Given the description of an element on the screen output the (x, y) to click on. 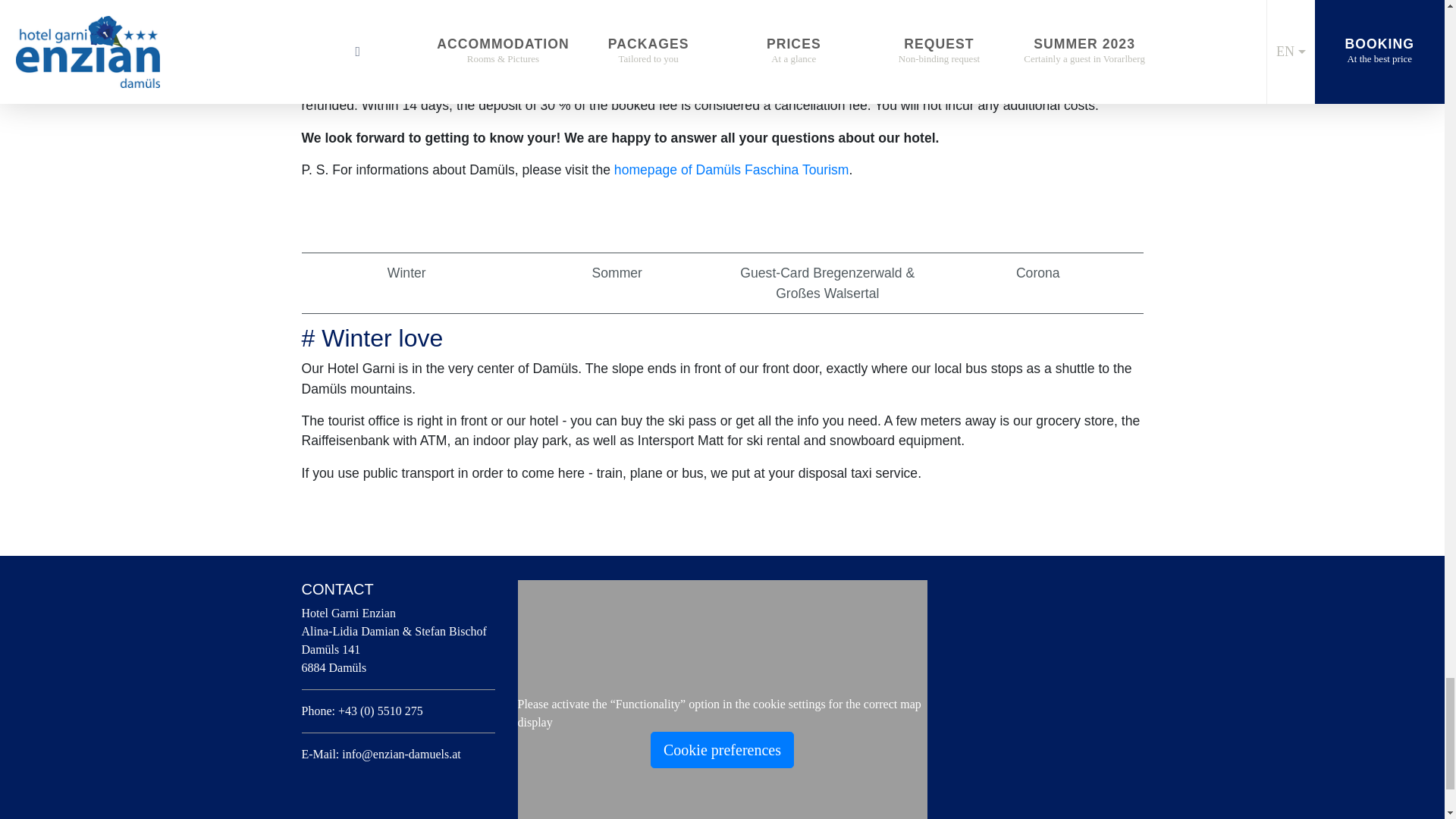
Corona (1037, 273)
Winter (406, 273)
E-Mail (401, 753)
Sommer (617, 273)
